Given the description of an element on the screen output the (x, y) to click on. 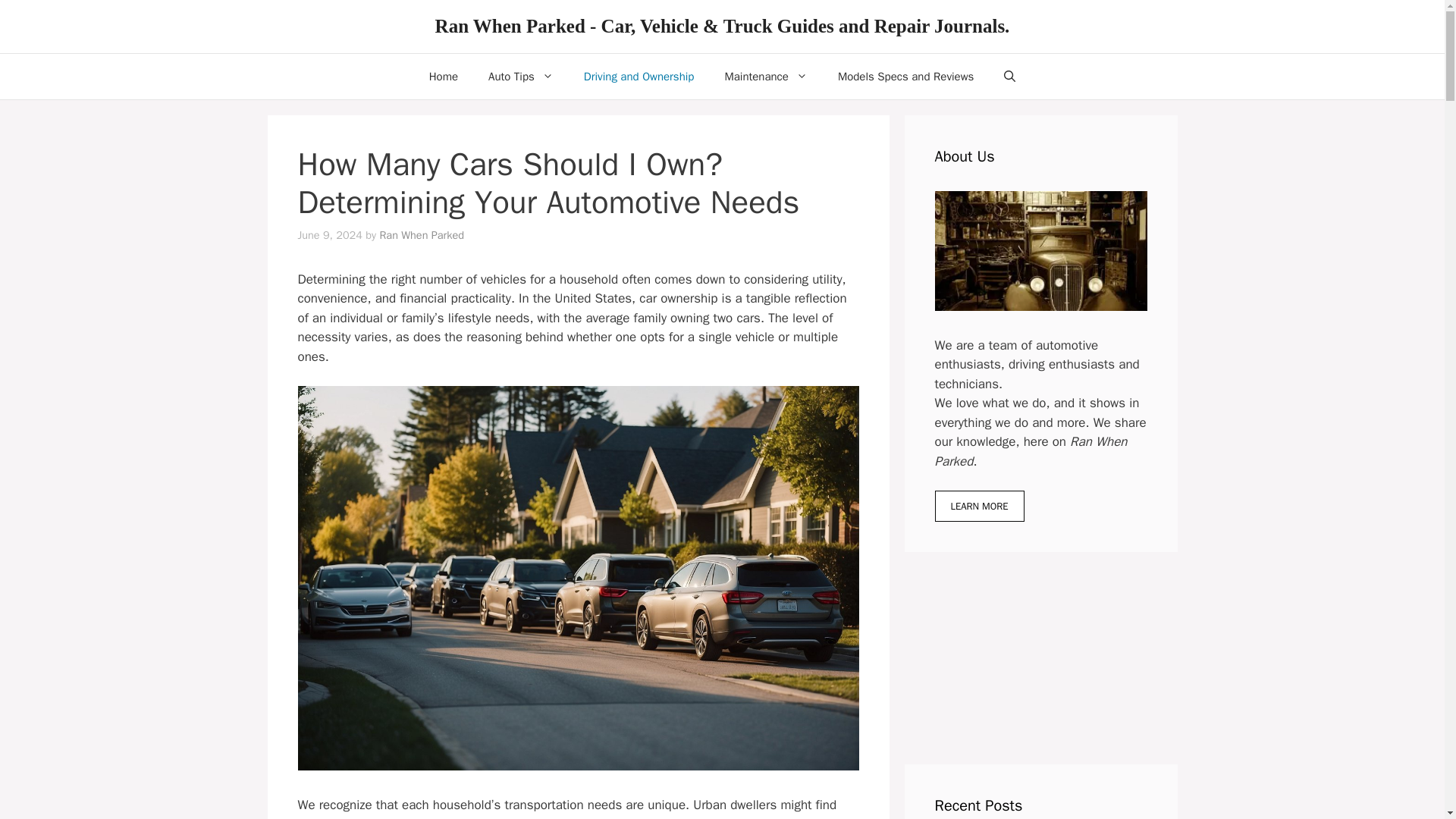
Home (443, 76)
Ran When Parked (421, 234)
Models Specs and Reviews (905, 76)
Auto Tips (521, 76)
Driving and Ownership (639, 76)
Maintenance (765, 76)
View all posts by Ran When Parked (421, 234)
